Given the description of an element on the screen output the (x, y) to click on. 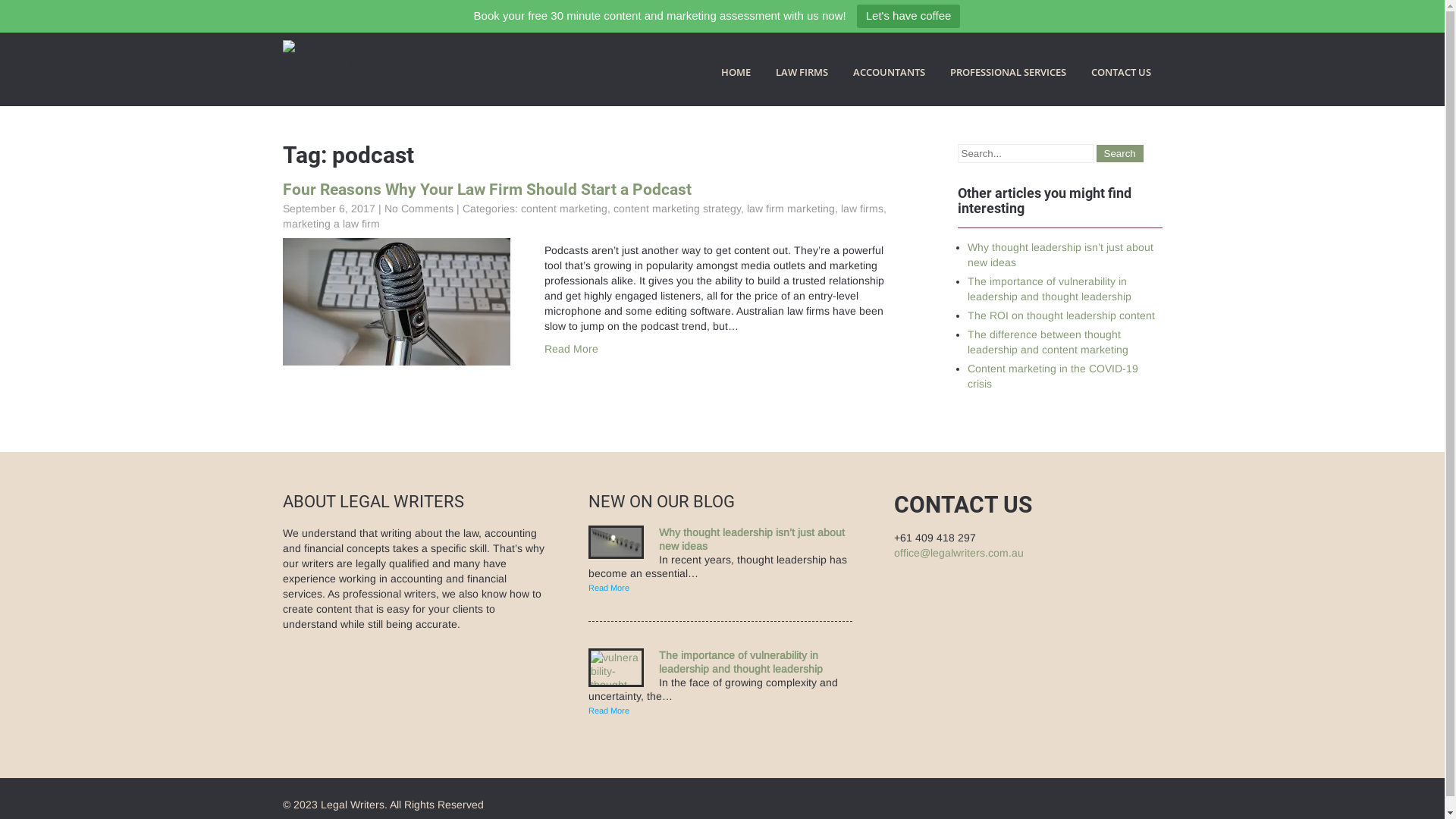
law firm marketing Element type: text (790, 208)
law firms Element type: text (861, 208)
The ROI on thought leadership content Element type: text (1060, 315)
Read More Element type: text (608, 709)
ACCOUNTANTS Element type: text (888, 71)
Let's have coffee Element type: text (908, 16)
office@legalwriters.com.au Element type: text (957, 552)
Four Reasons Why Your Law Firm Should Start a Podcast Element type: text (486, 189)
Read More Element type: text (571, 348)
Content marketing in the COVID-19 crisis Element type: text (1052, 375)
LAW FIRMS Element type: text (801, 71)
marketing a law firm Element type: text (330, 223)
Search Element type: text (1119, 153)
content marketing Element type: text (563, 208)
content marketing strategy Element type: text (676, 208)
Read More Element type: text (608, 586)
PROFESSIONAL SERVICES Element type: text (1007, 71)
HOME Element type: text (735, 71)
No Comments Element type: text (417, 208)
CONTACT US Element type: text (1120, 71)
